Given the description of an element on the screen output the (x, y) to click on. 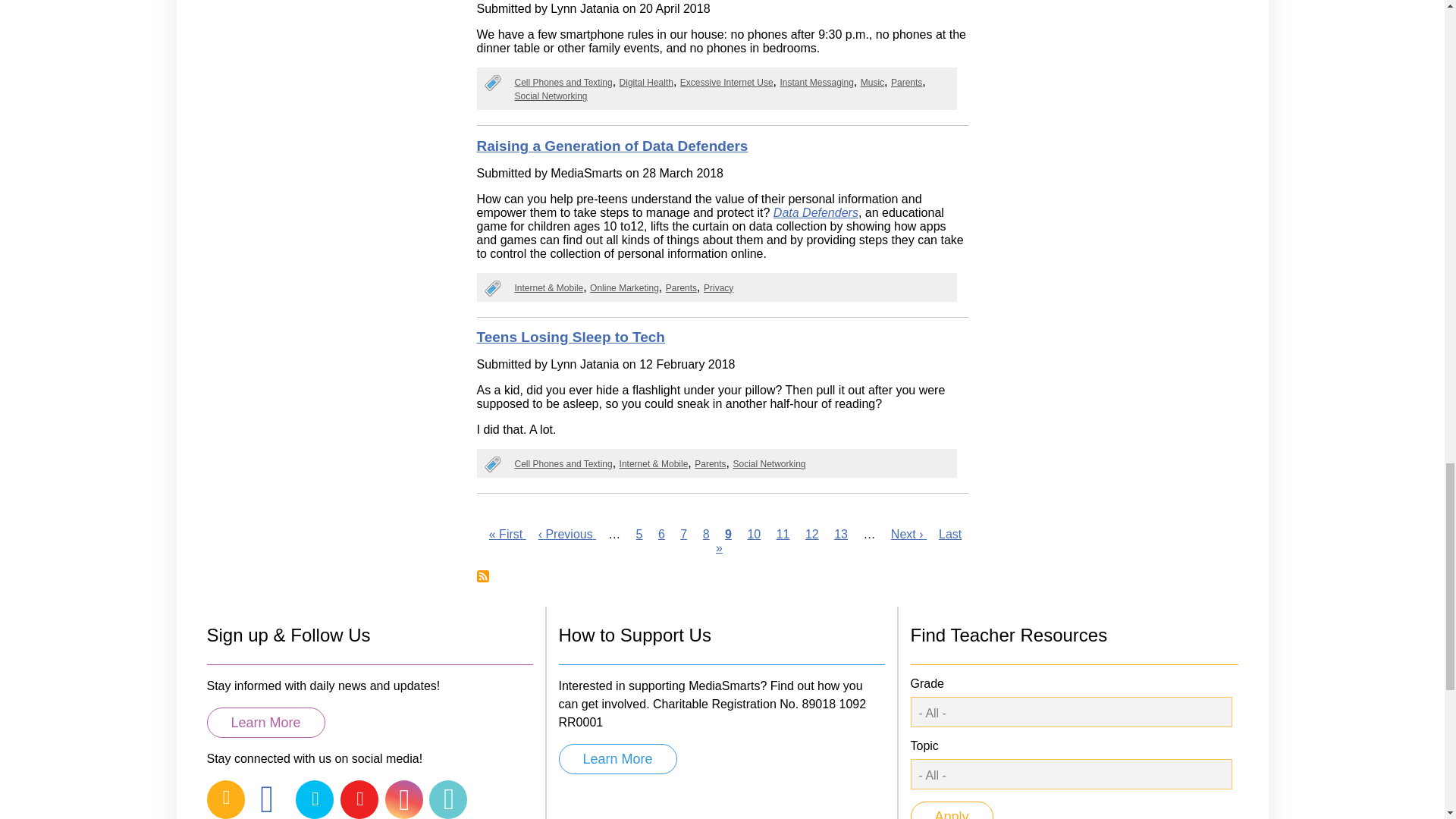
Go to previous page (566, 533)
Go to page 11 (783, 533)
Become a donor (617, 758)
Go to next page (908, 533)
Go to page 13 (840, 533)
Go to page 10 (753, 533)
Go to last page (838, 540)
Apply (951, 810)
Go to page 12 (811, 533)
Go to first page (507, 533)
